Given the description of an element on the screen output the (x, y) to click on. 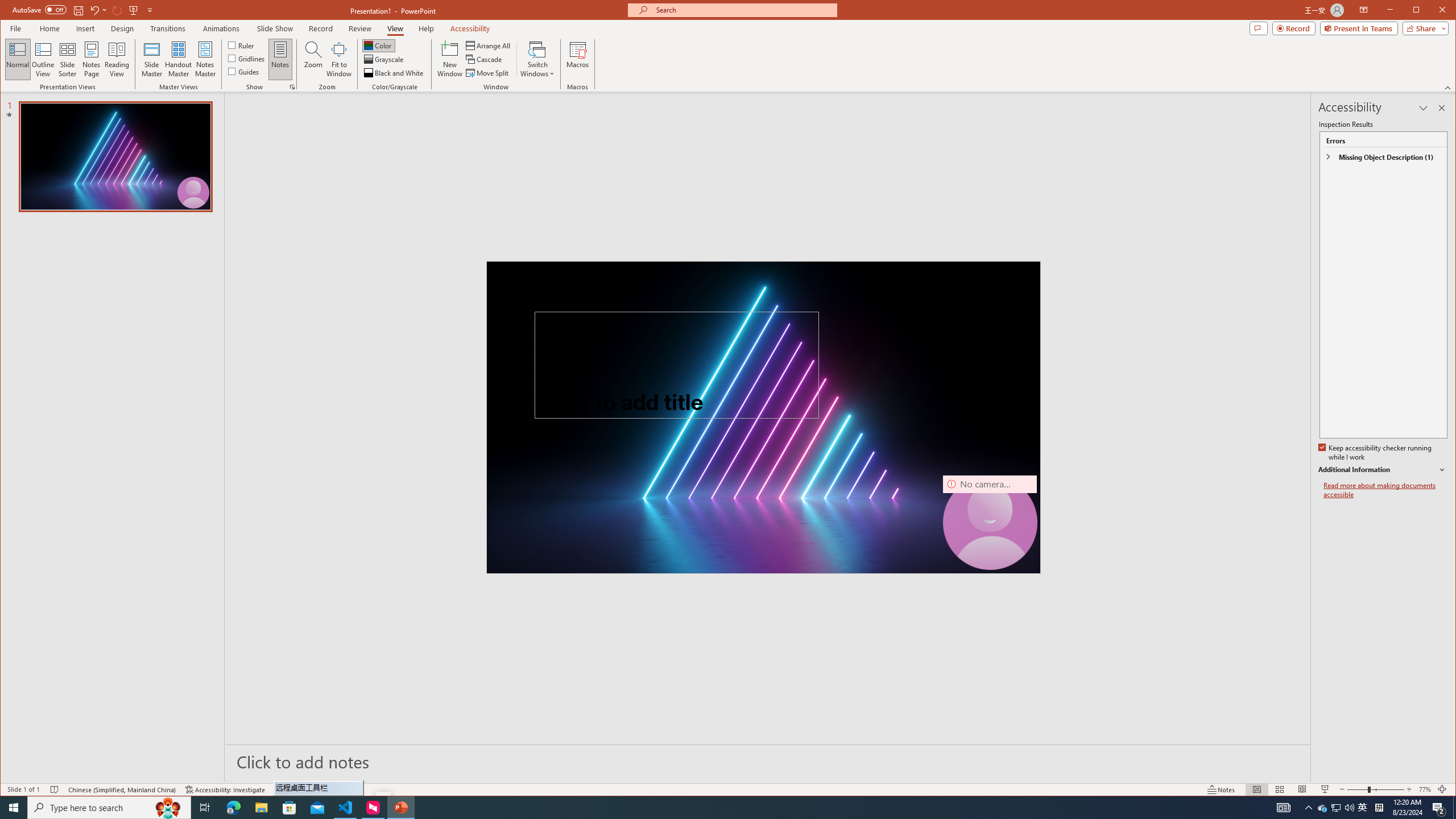
Grayscale (384, 59)
Cascade (484, 59)
Macros (576, 59)
Guides (243, 70)
Additional Information (1322, 807)
